Given the description of an element on the screen output the (x, y) to click on. 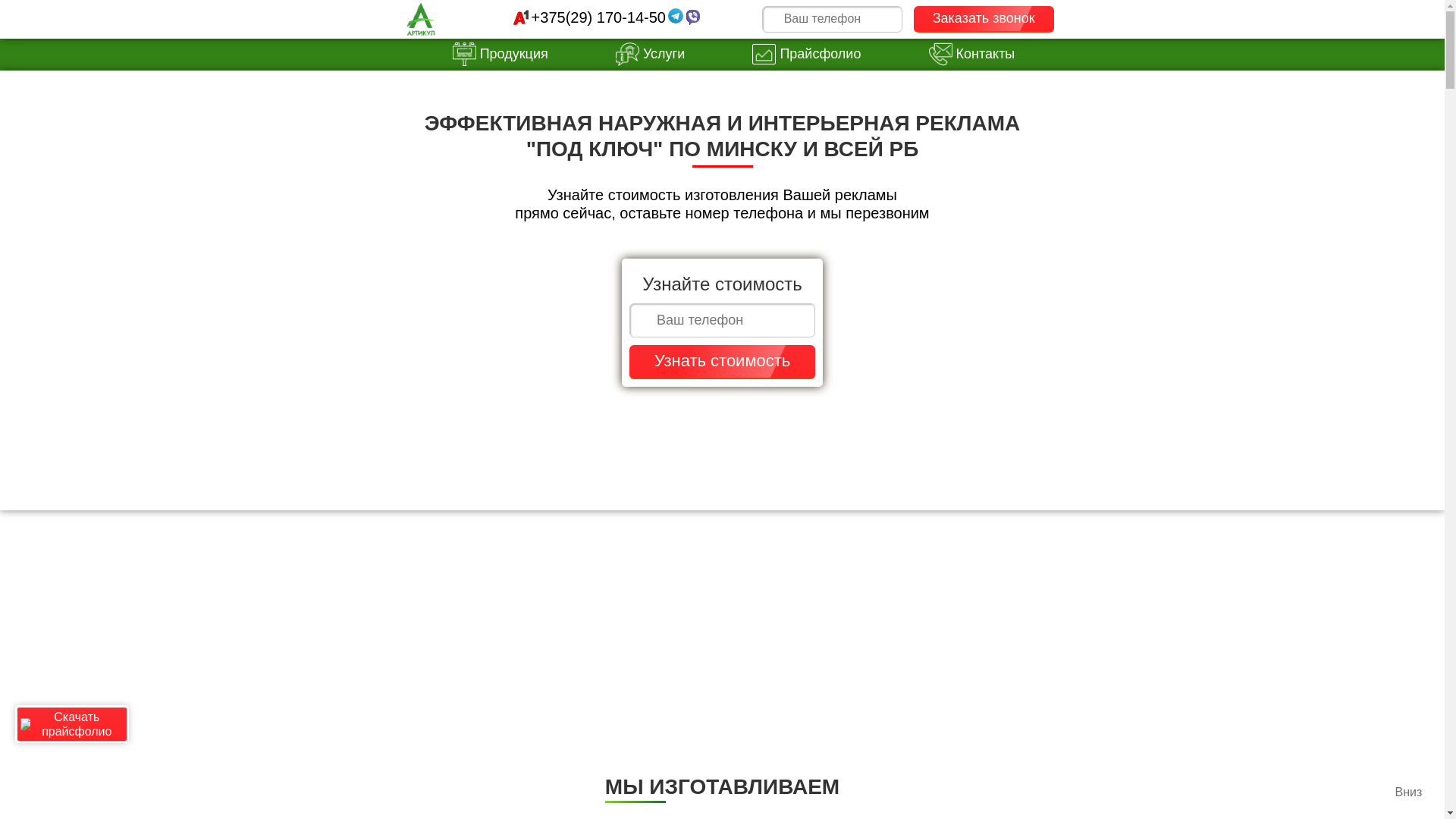
+375(29) 170-14-50 Element type: text (598, 17)
